Given the description of an element on the screen output the (x, y) to click on. 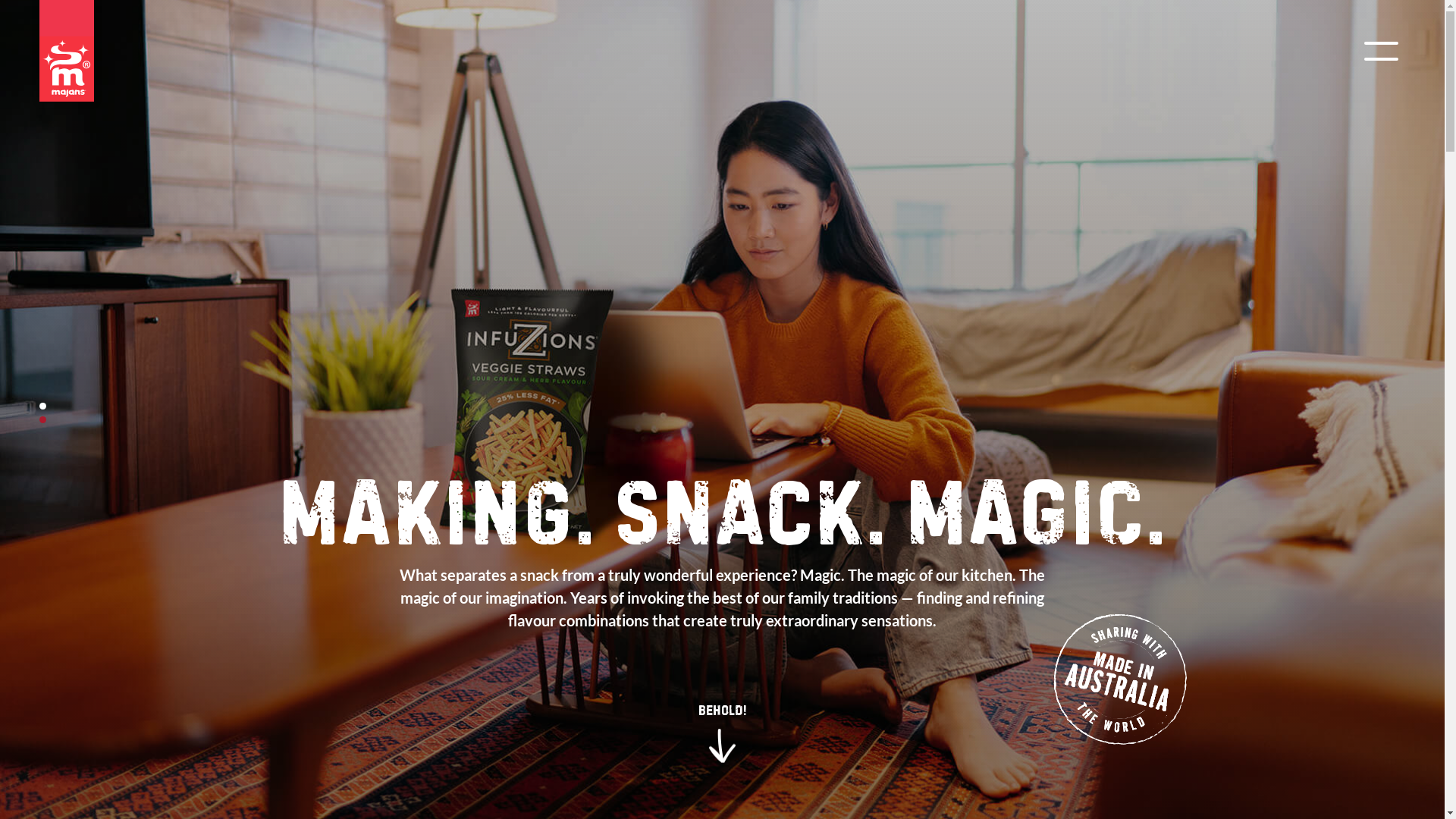
Majans Element type: hover (66, 50)
